Given the description of an element on the screen output the (x, y) to click on. 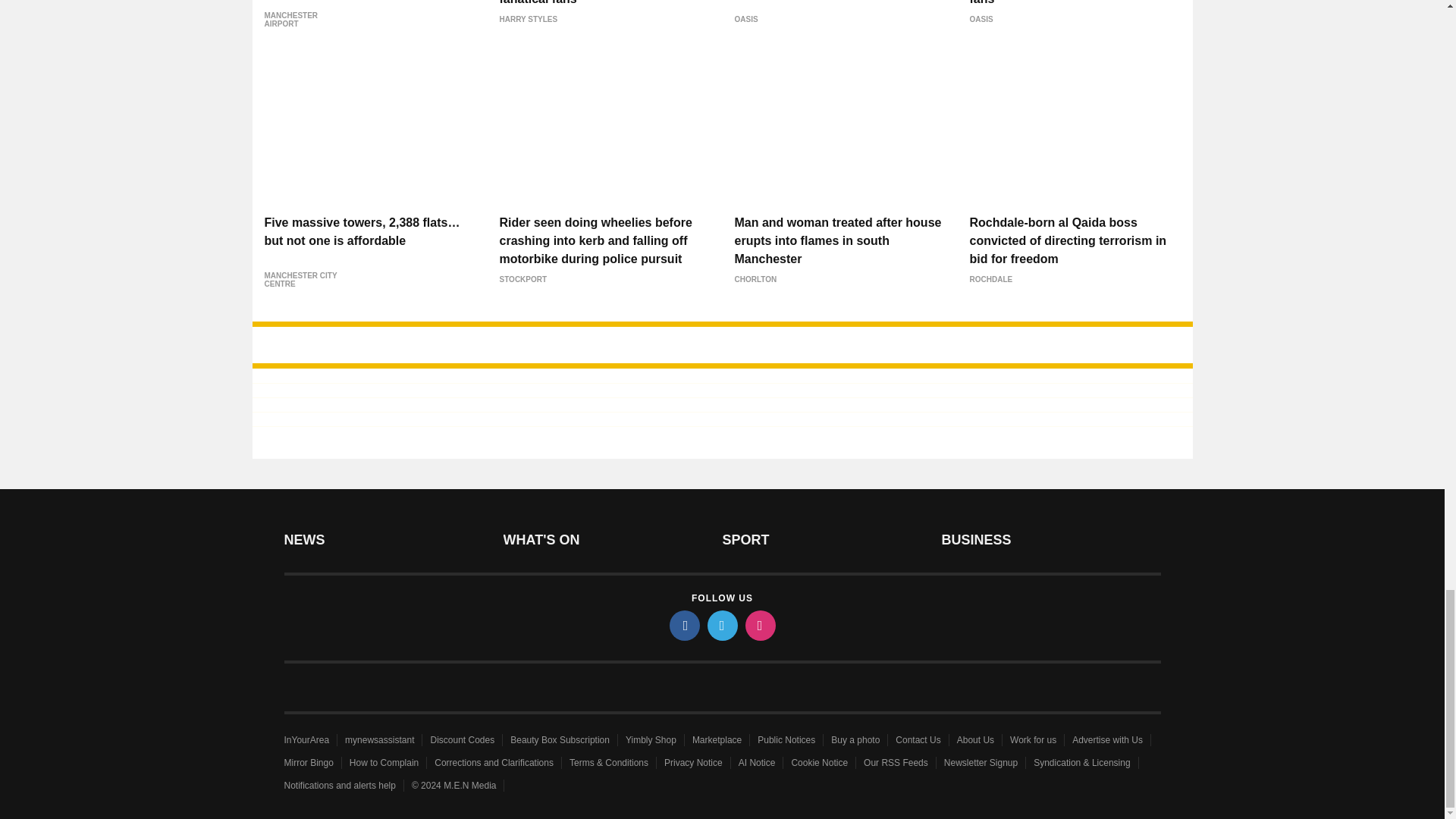
twitter (721, 625)
facebook (683, 625)
instagram (759, 625)
